Given the description of an element on the screen output the (x, y) to click on. 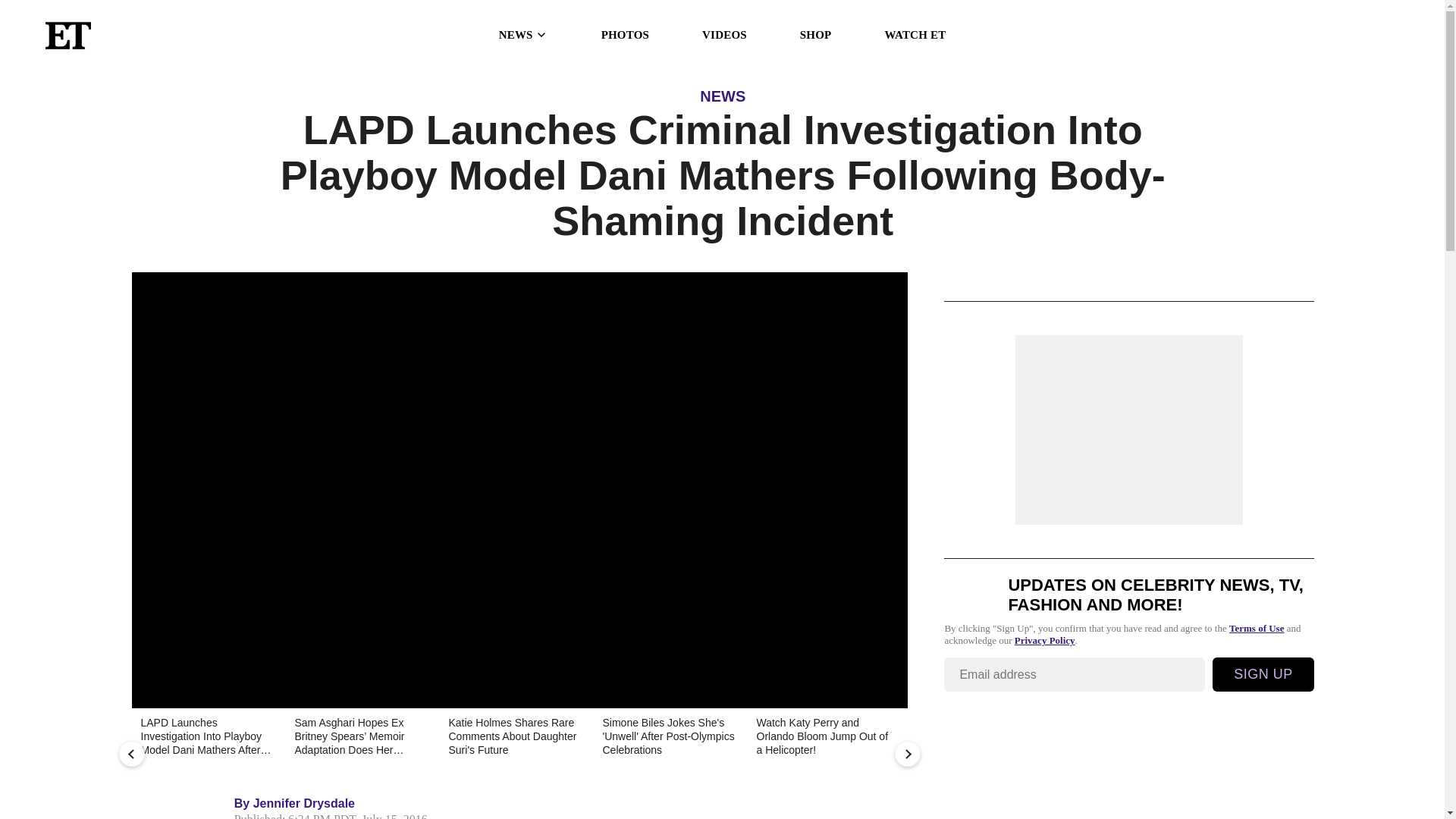
NEWS (722, 95)
SHOP (815, 34)
Watch Katy Perry and Orlando Bloom Jump Out of a Helicopter! (821, 737)
WATCH ET (913, 34)
NEWS (523, 34)
PHOTOS (625, 34)
VIDEOS (723, 34)
